Given the description of an element on the screen output the (x, y) to click on. 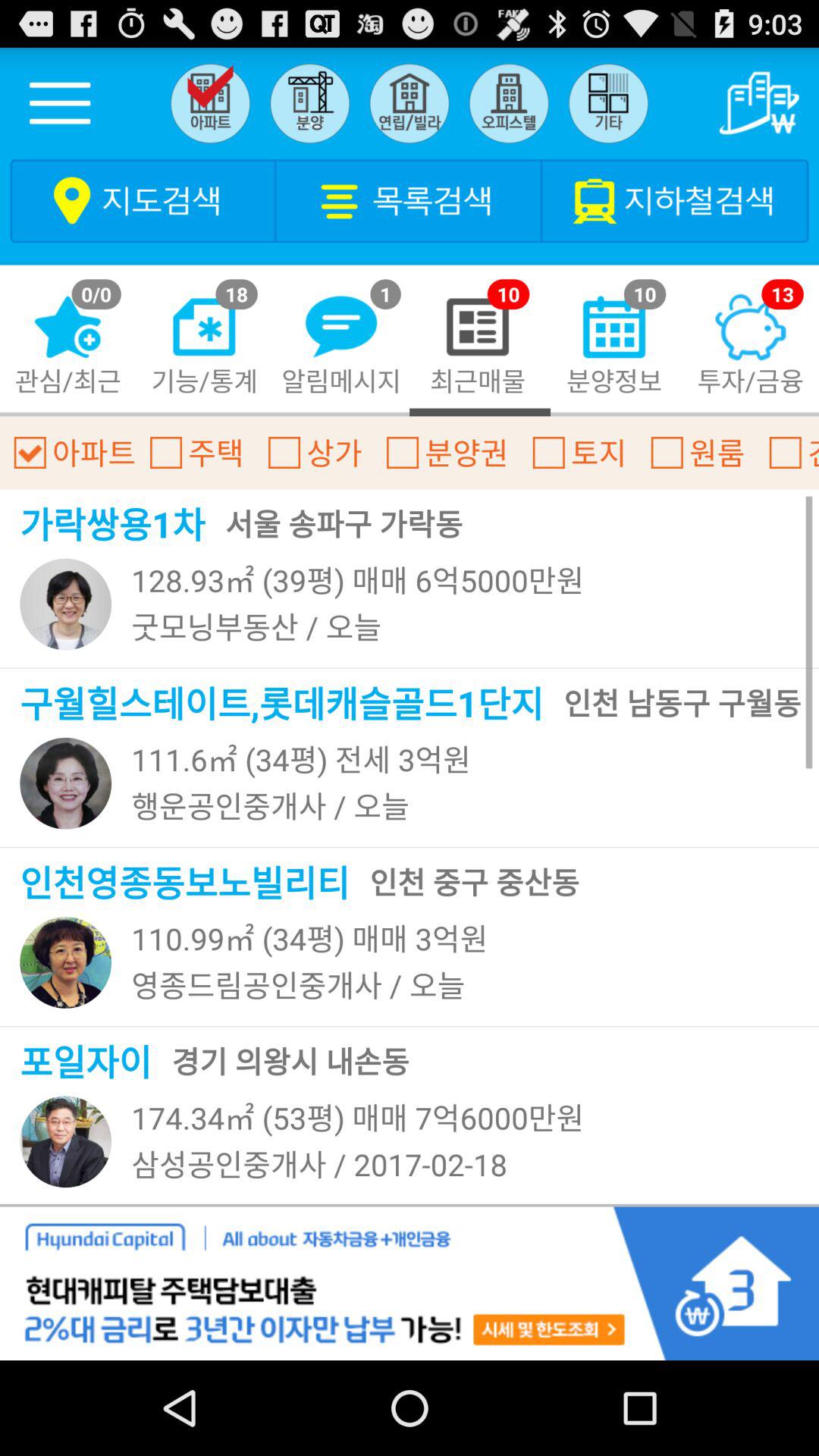
select the train icon and the text which is to the right side of it (675, 200)
select the fifth check box below contacts (549, 452)
